Given the description of an element on the screen output the (x, y) to click on. 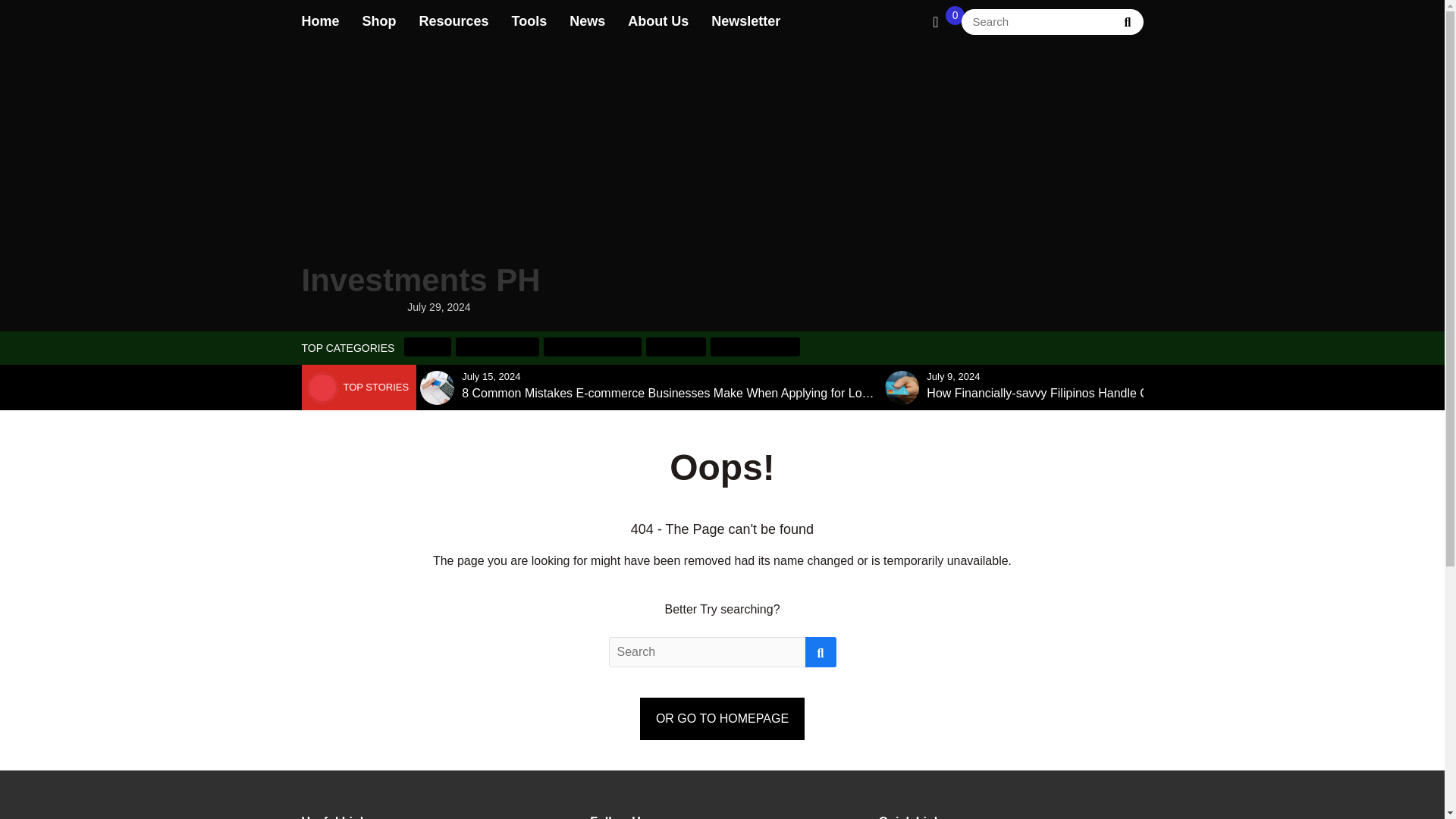
About Us (657, 20)
Shop (379, 20)
How Financially-savvy Filipinos Handle Credit Card Myths (1081, 393)
Calculator (676, 346)
Search (1127, 20)
Newsletter (745, 20)
Resources (454, 20)
Breaking News (496, 346)
Home (320, 20)
Business Updates (592, 346)
Tools (529, 20)
Investments PH (420, 177)
Financial Advice (754, 346)
July 15, 2024 (490, 376)
July 9, 2024 (952, 376)
